Given the description of an element on the screen output the (x, y) to click on. 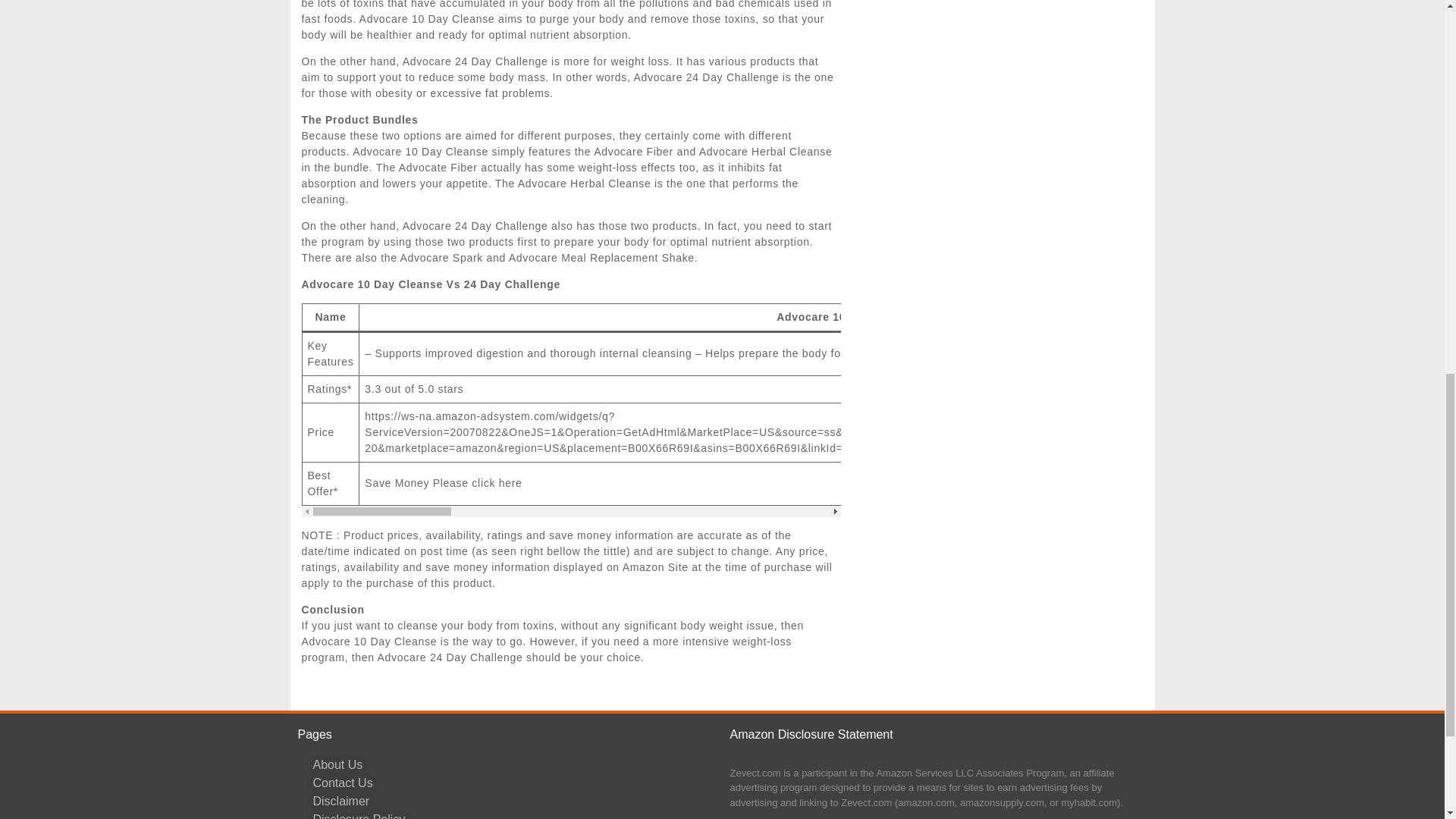
About Us (513, 764)
Disclosure Policy (513, 814)
Disclaimer (513, 801)
Contact Us (513, 782)
